Given the description of an element on the screen output the (x, y) to click on. 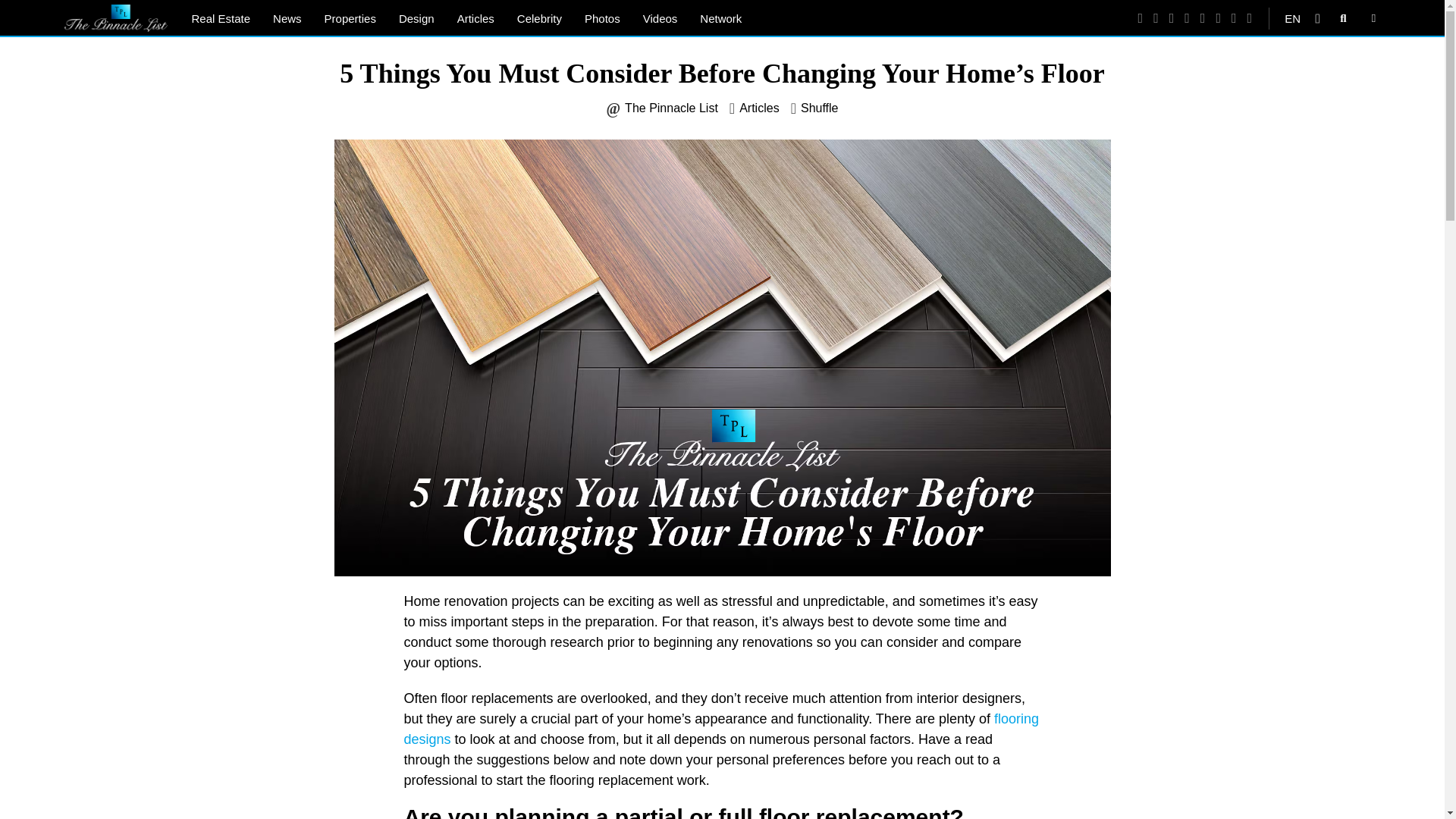
Network (720, 18)
Properties (350, 18)
Design (416, 18)
Articles (758, 107)
Celebrity (539, 18)
Posts by The Pinnacle List (670, 107)
News (287, 18)
Real Estate (221, 18)
Articles (475, 18)
Videos (659, 18)
Photos (602, 18)
